Given the description of an element on the screen output the (x, y) to click on. 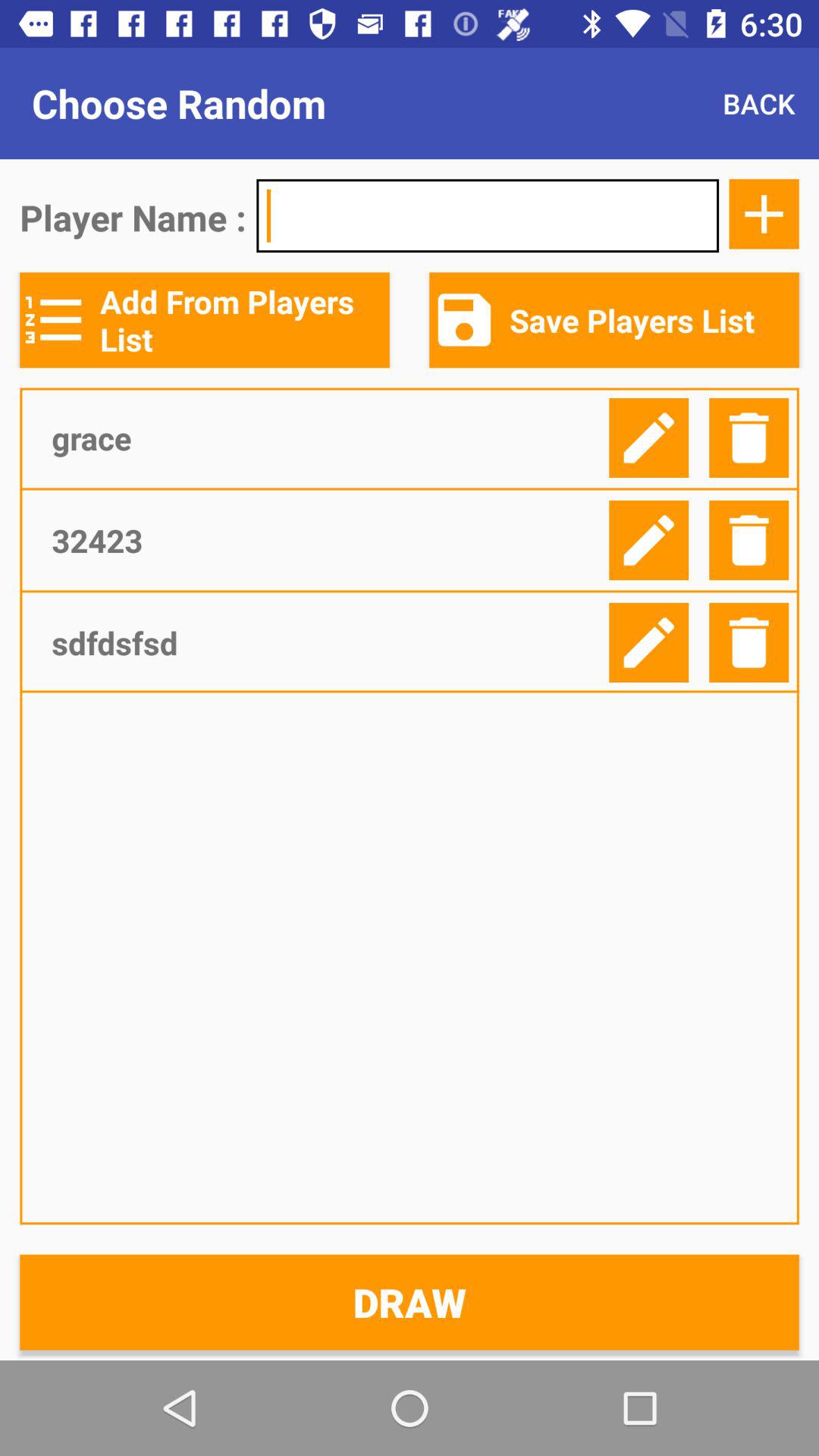
edit it (648, 540)
